Given the description of an element on the screen output the (x, y) to click on. 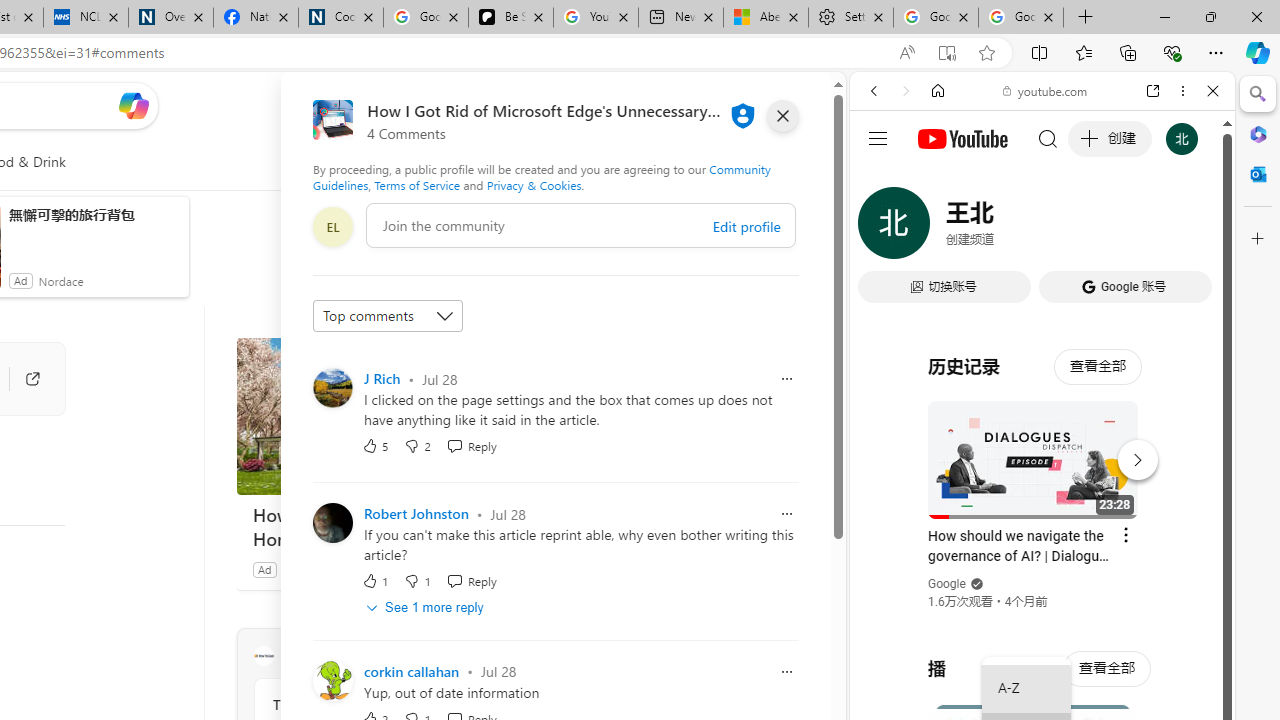
Community Guidelines (541, 176)
HowToGeek (263, 655)
Aberdeen, Hong Kong SAR hourly forecast | Microsoft Weather (765, 17)
WEB   (882, 228)
IMAGES (939, 228)
Music (1042, 543)
Close Customize pane (1258, 239)
A-Z (1026, 688)
1 Like (375, 580)
Trailer #2 [HD] (1042, 592)
